Given the description of an element on the screen output the (x, y) to click on. 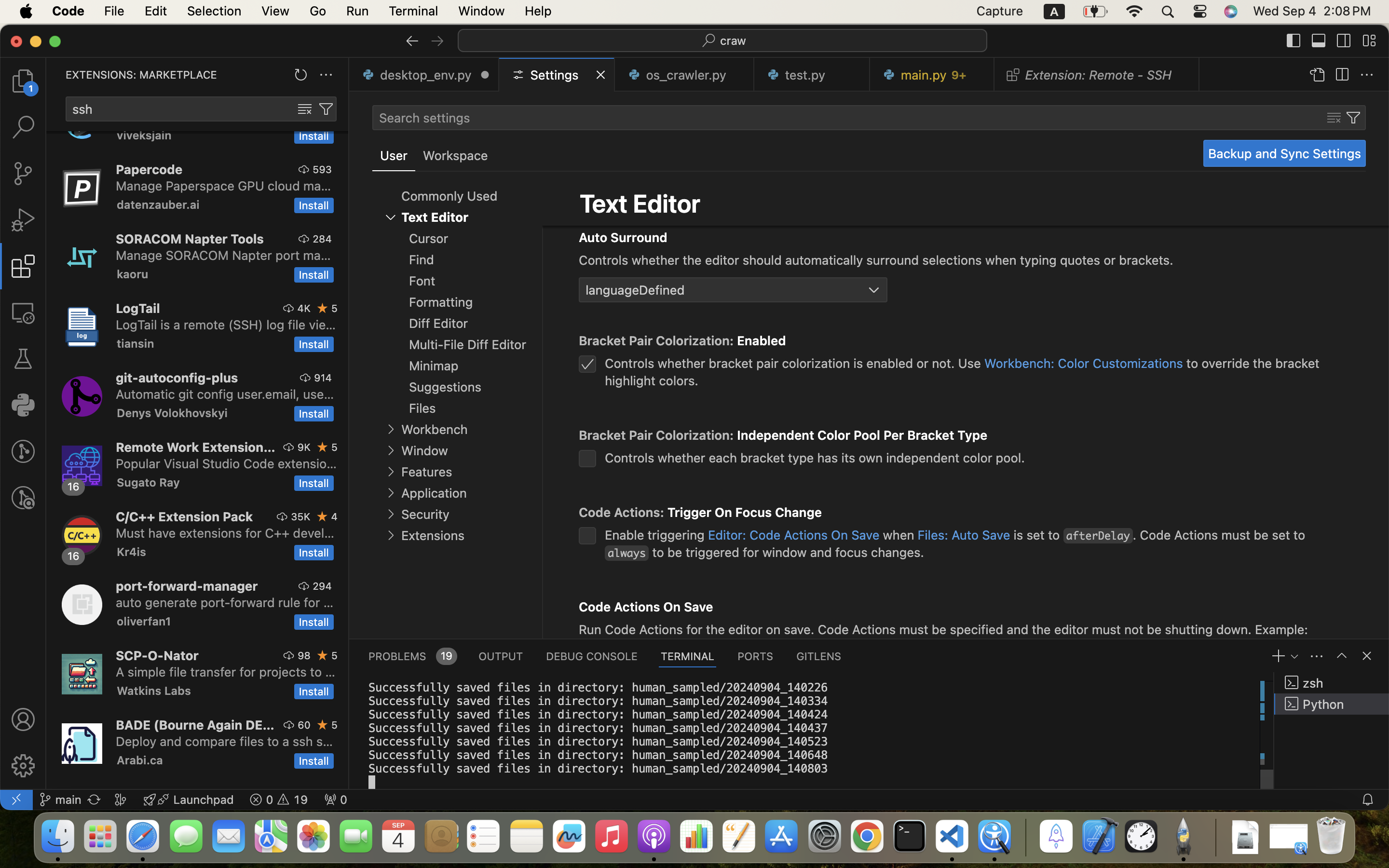
0  Element type: AXRadioButton (23, 312)
Manage SORACOM Napter port mappings from Visual Studio Code. Element type: AXStaticText (222, 254)
 Element type: AXGroup (23, 219)
 Element type: AXButton (437, 40)
Cursor Element type: AXStaticText (428, 238)
